Given the description of an element on the screen output the (x, y) to click on. 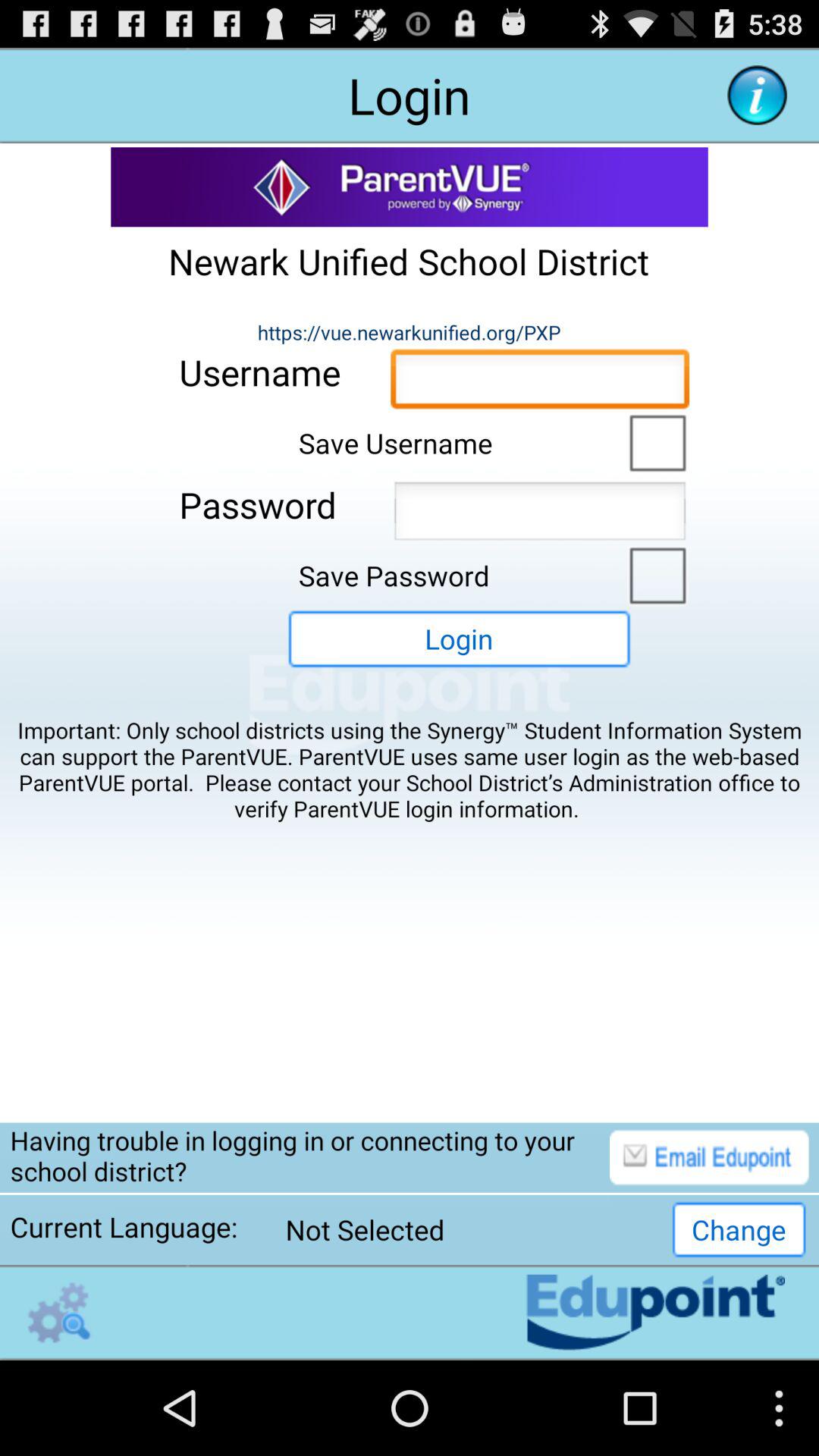
enter username (539, 383)
